Given the description of an element on the screen output the (x, y) to click on. 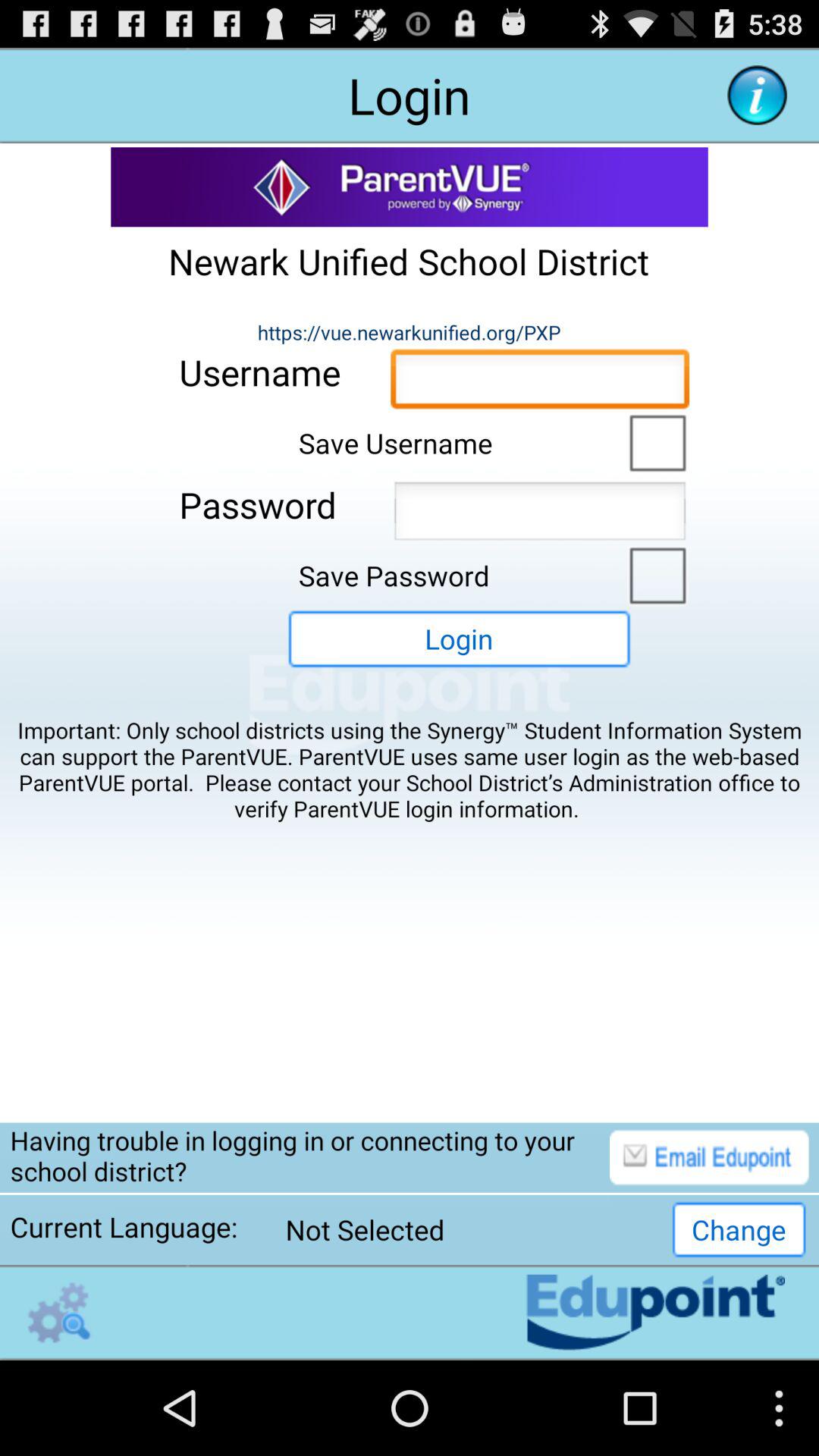
enter username (539, 383)
